Given the description of an element on the screen output the (x, y) to click on. 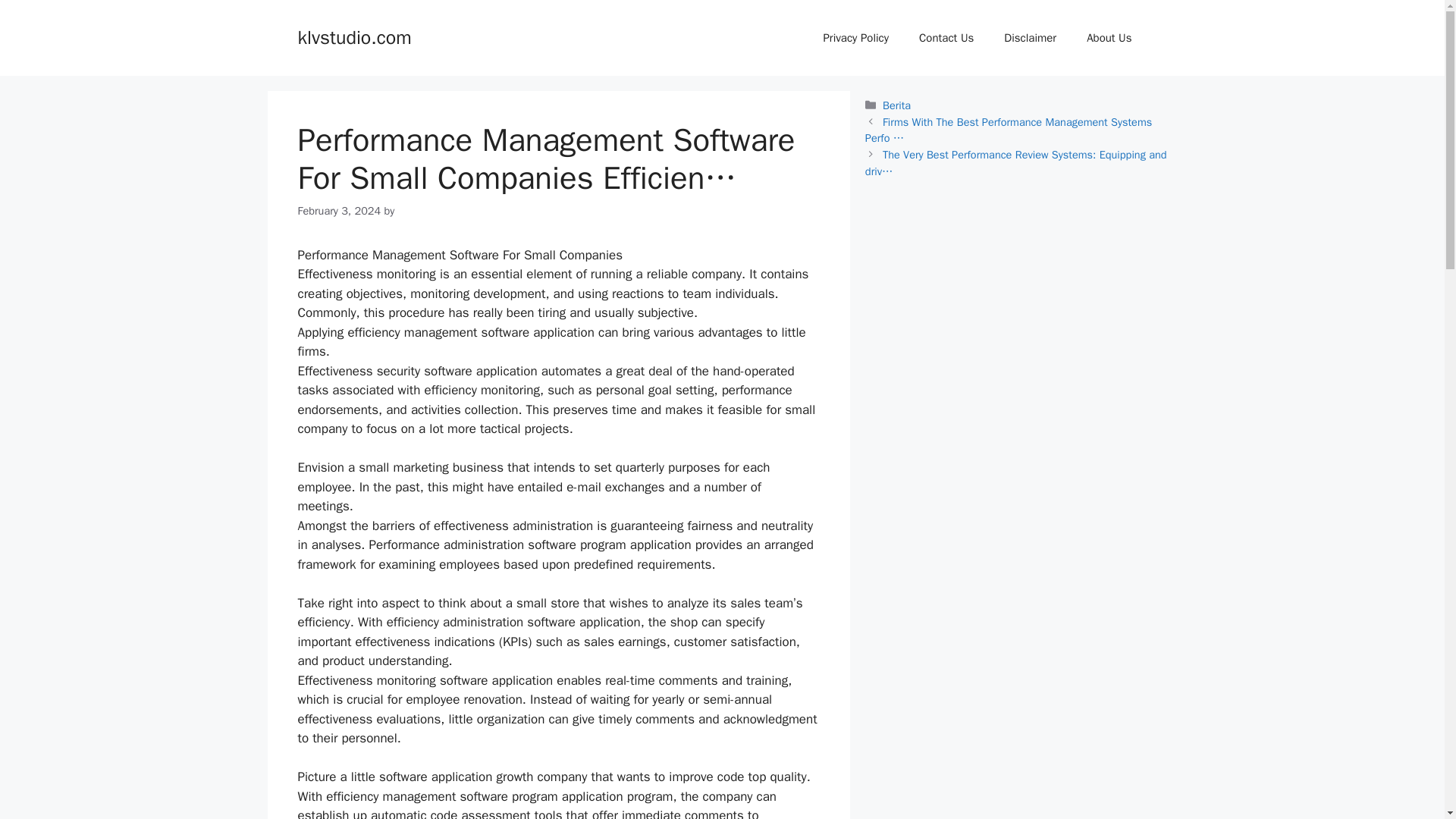
About Us (1109, 37)
Privacy Policy (856, 37)
klvstudio.com (353, 37)
Disclaimer (1029, 37)
Contact Us (946, 37)
Berita (896, 105)
